Given the description of an element on the screen output the (x, y) to click on. 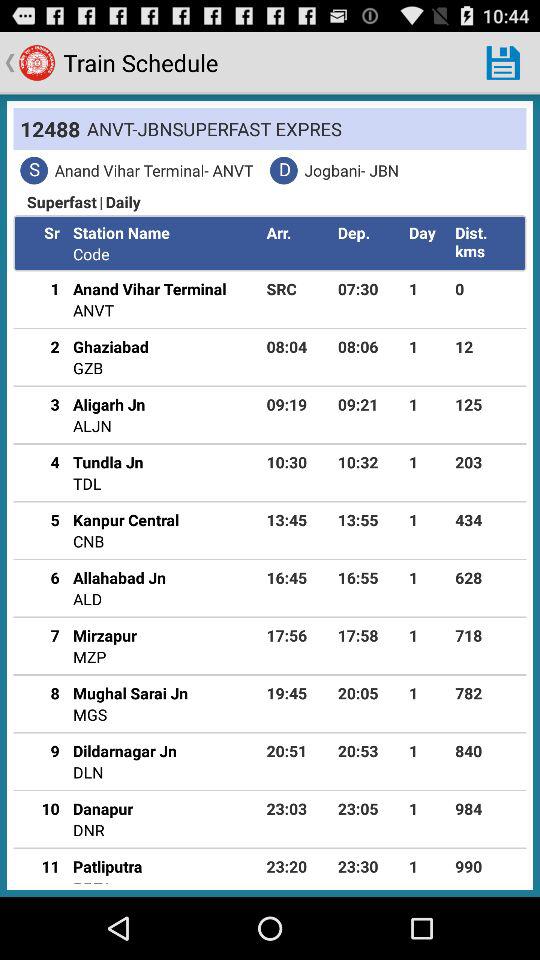
tap the icon next to the train schedule (503, 62)
